Given the description of an element on the screen output the (x, y) to click on. 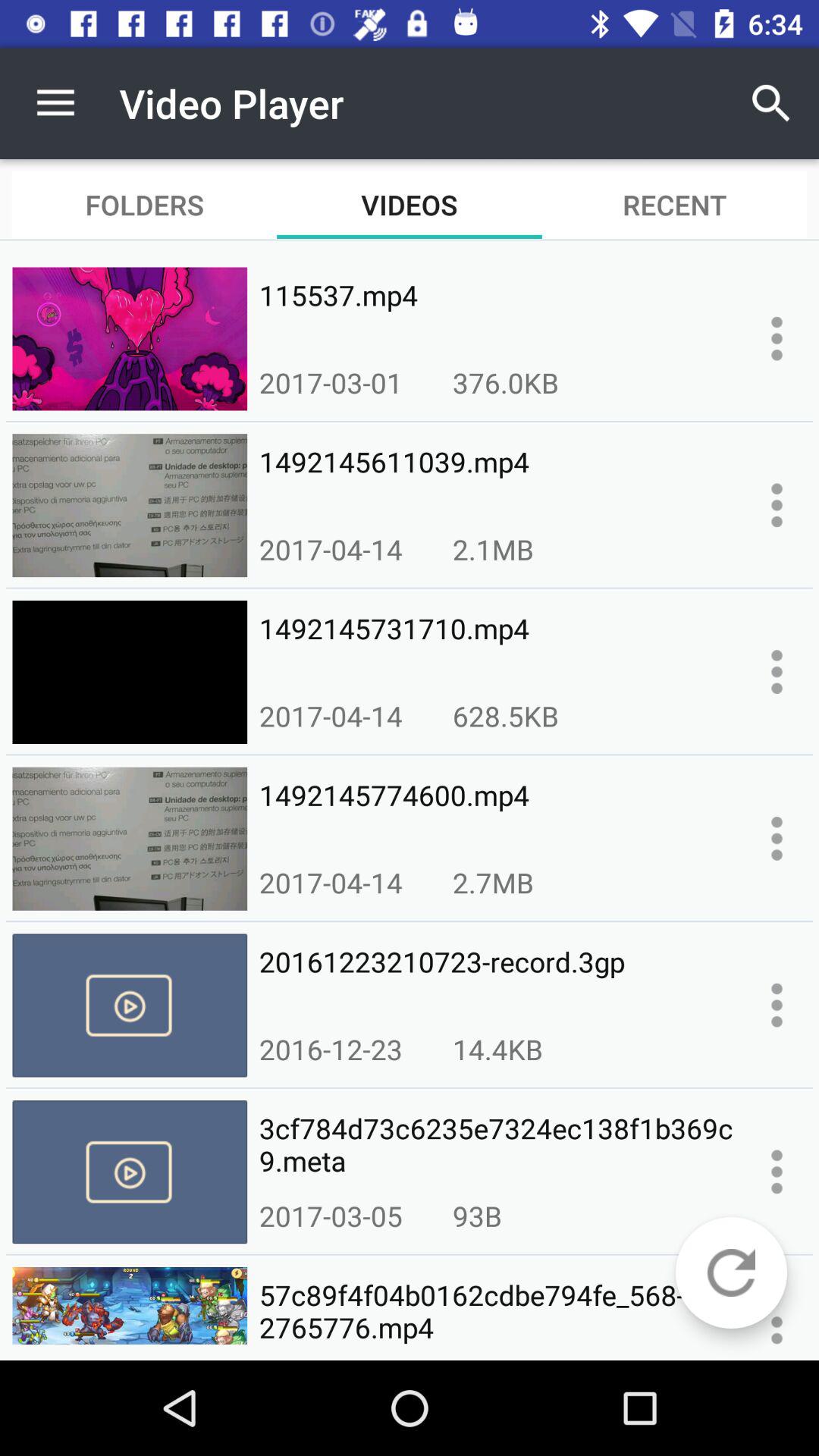
select the icon below the 115537.mp4 icon (505, 382)
